Given the description of an element on the screen output the (x, y) to click on. 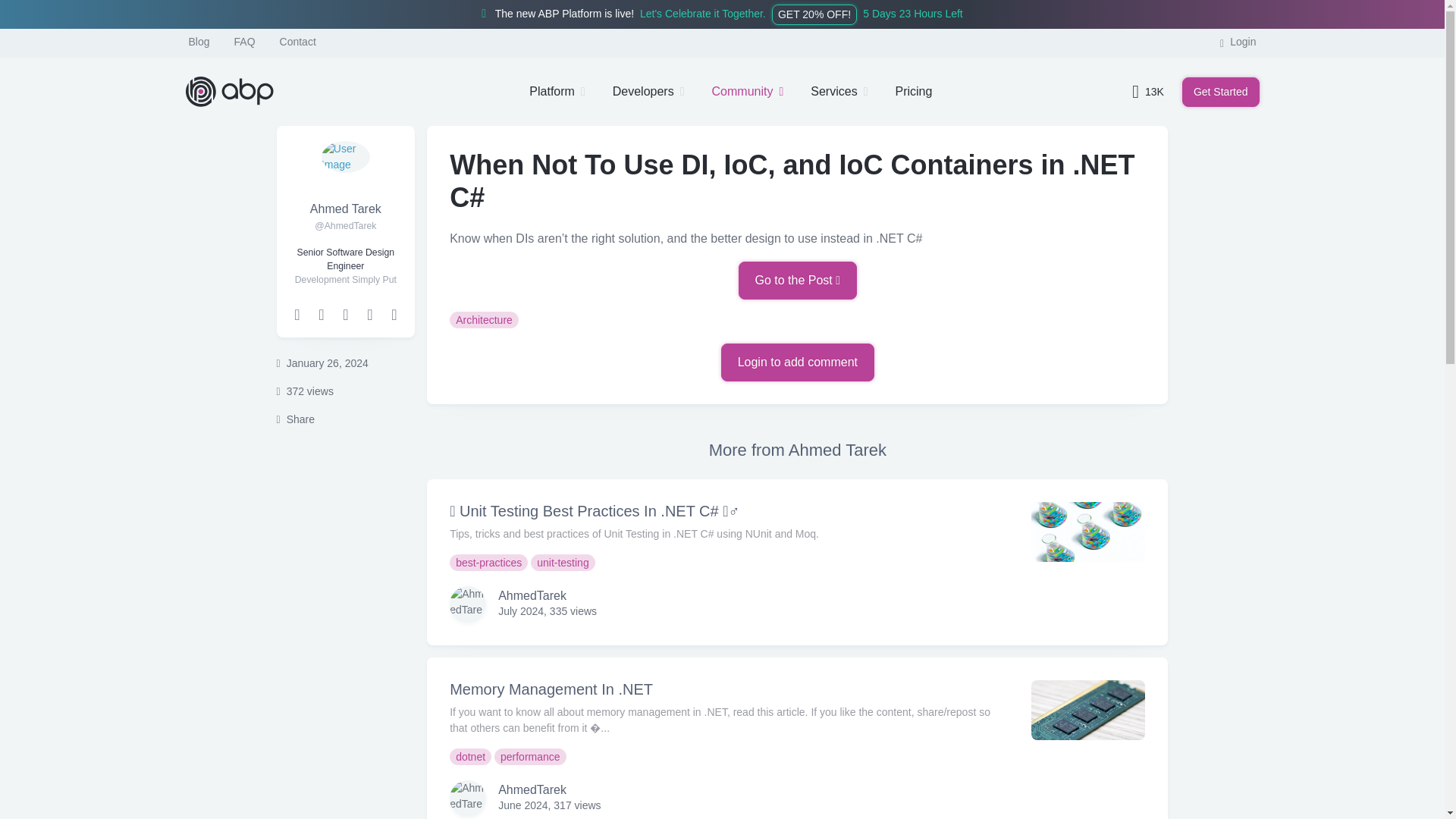
Login (1238, 41)
Blog (198, 41)
Contact (297, 41)
Go to the Post (797, 280)
Developers (648, 91)
Services (838, 91)
Platform (556, 91)
FAQ (245, 41)
Pricing (912, 91)
Community (747, 91)
